Given the description of an element on the screen output the (x, y) to click on. 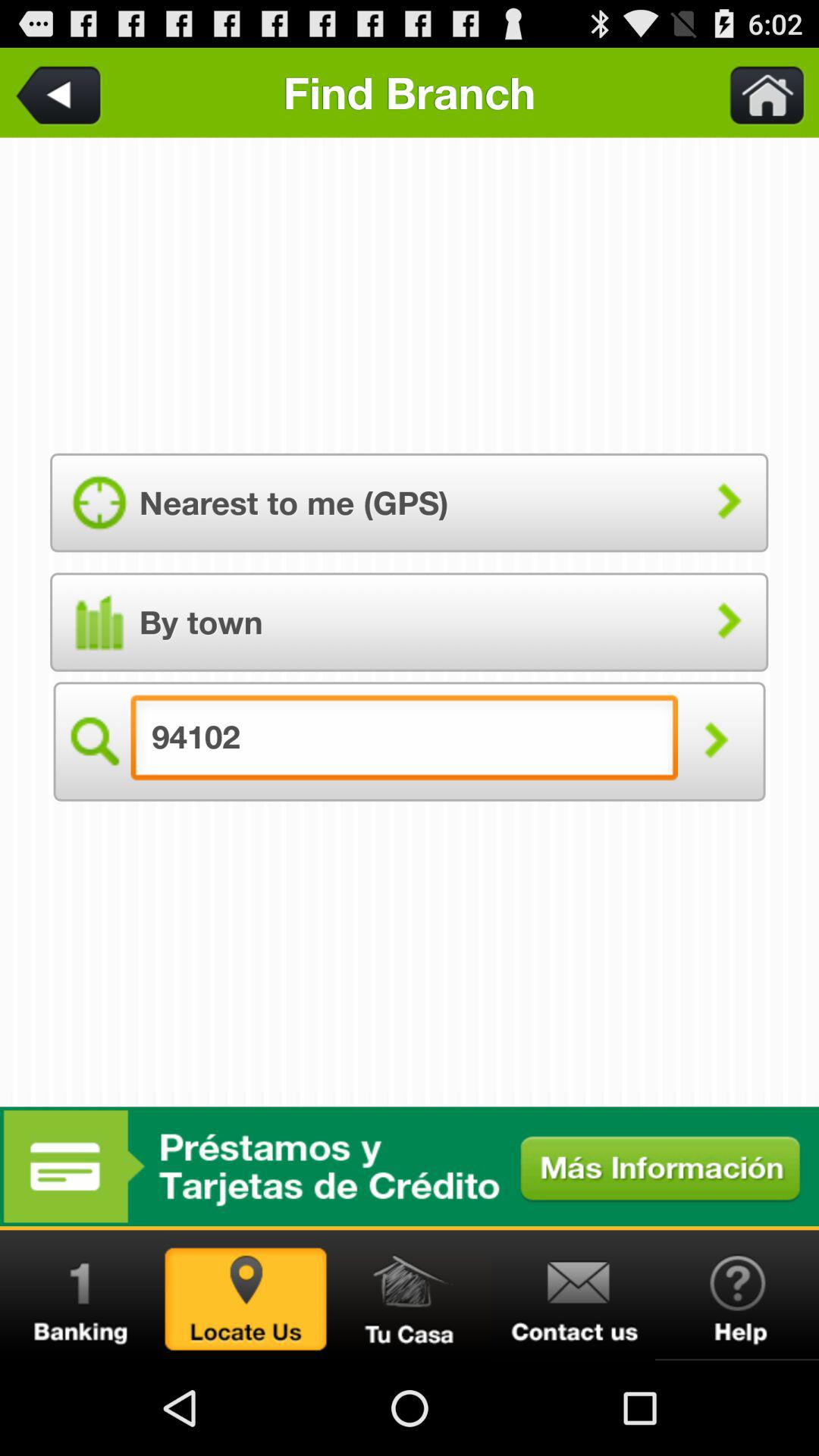
tap for more information (409, 1166)
